Given the description of an element on the screen output the (x, y) to click on. 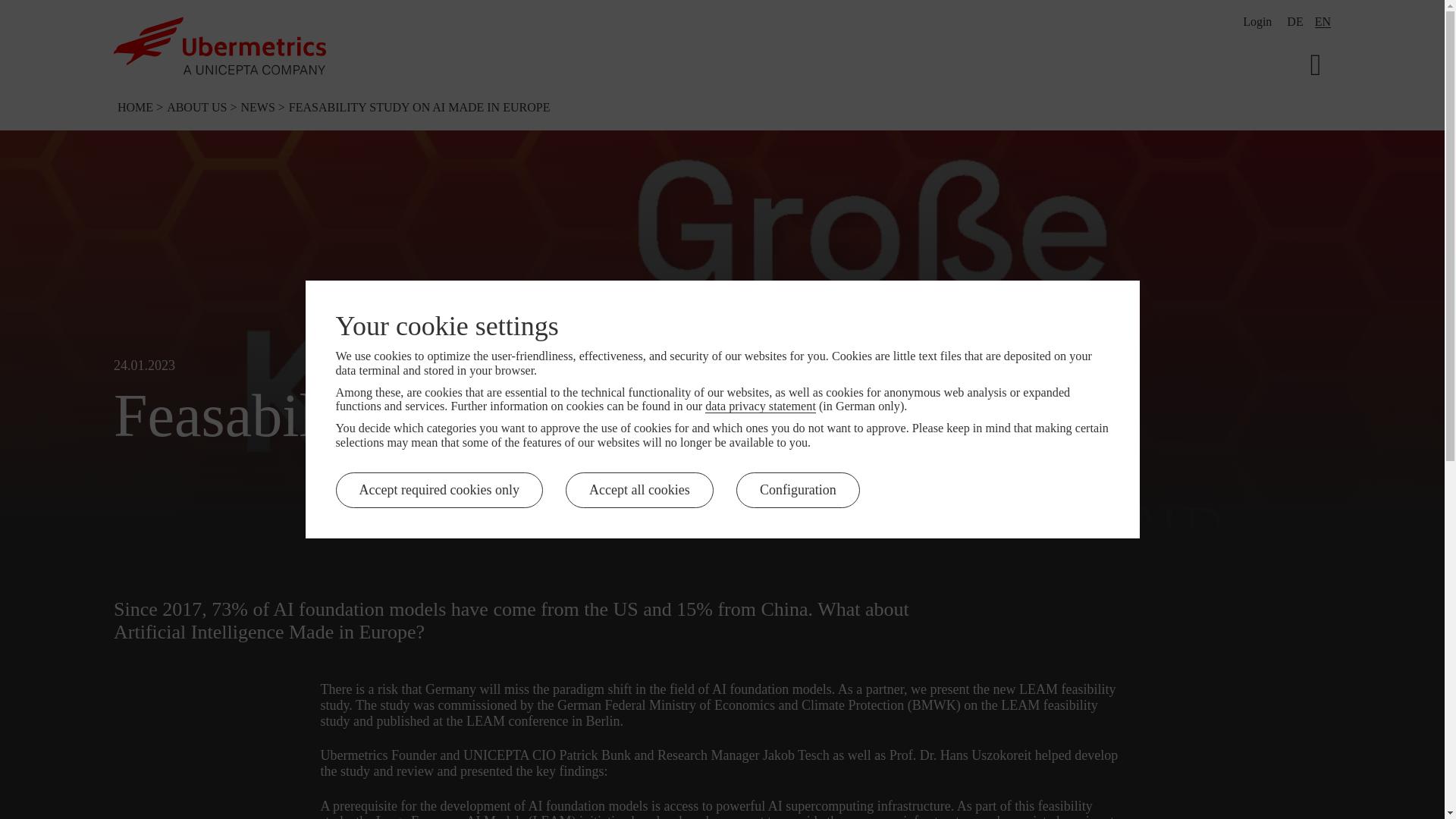
data privacy statement (759, 406)
HOME (1322, 21)
NEWS (136, 106)
close navigation (259, 106)
English (1315, 62)
Deutsch (1322, 21)
Accept required cookies only (1295, 21)
Accept all cookies (1295, 21)
Login (437, 489)
